Given the description of an element on the screen output the (x, y) to click on. 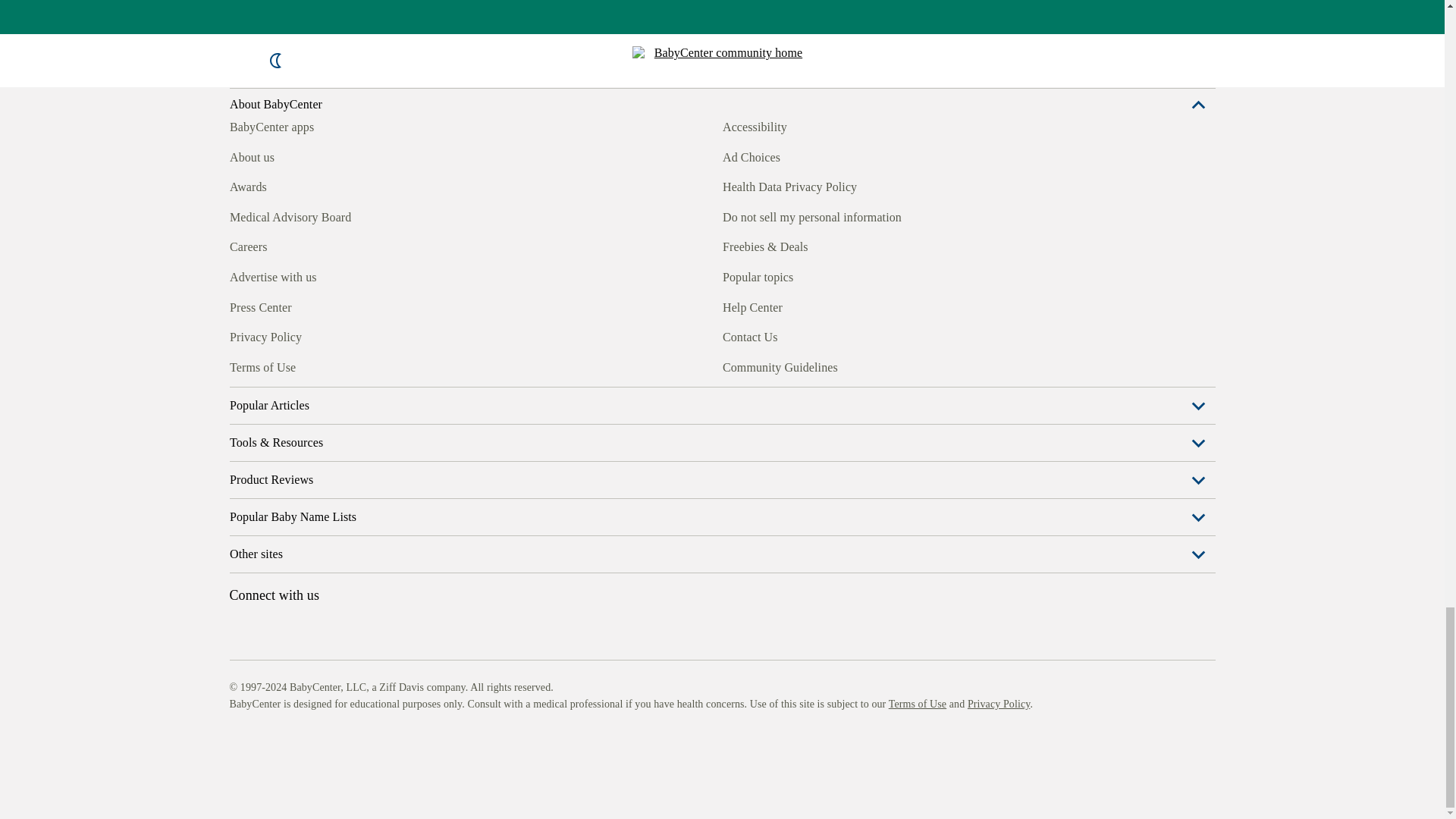
BabyCenter Twitter feed (379, 364)
BabyCenter YouTube channel (344, 364)
BabyCenter Instagram feed (274, 364)
BabyCenter Facebook page (239, 364)
BabyCenter Pinterest board (309, 364)
